Given the description of an element on the screen output the (x, y) to click on. 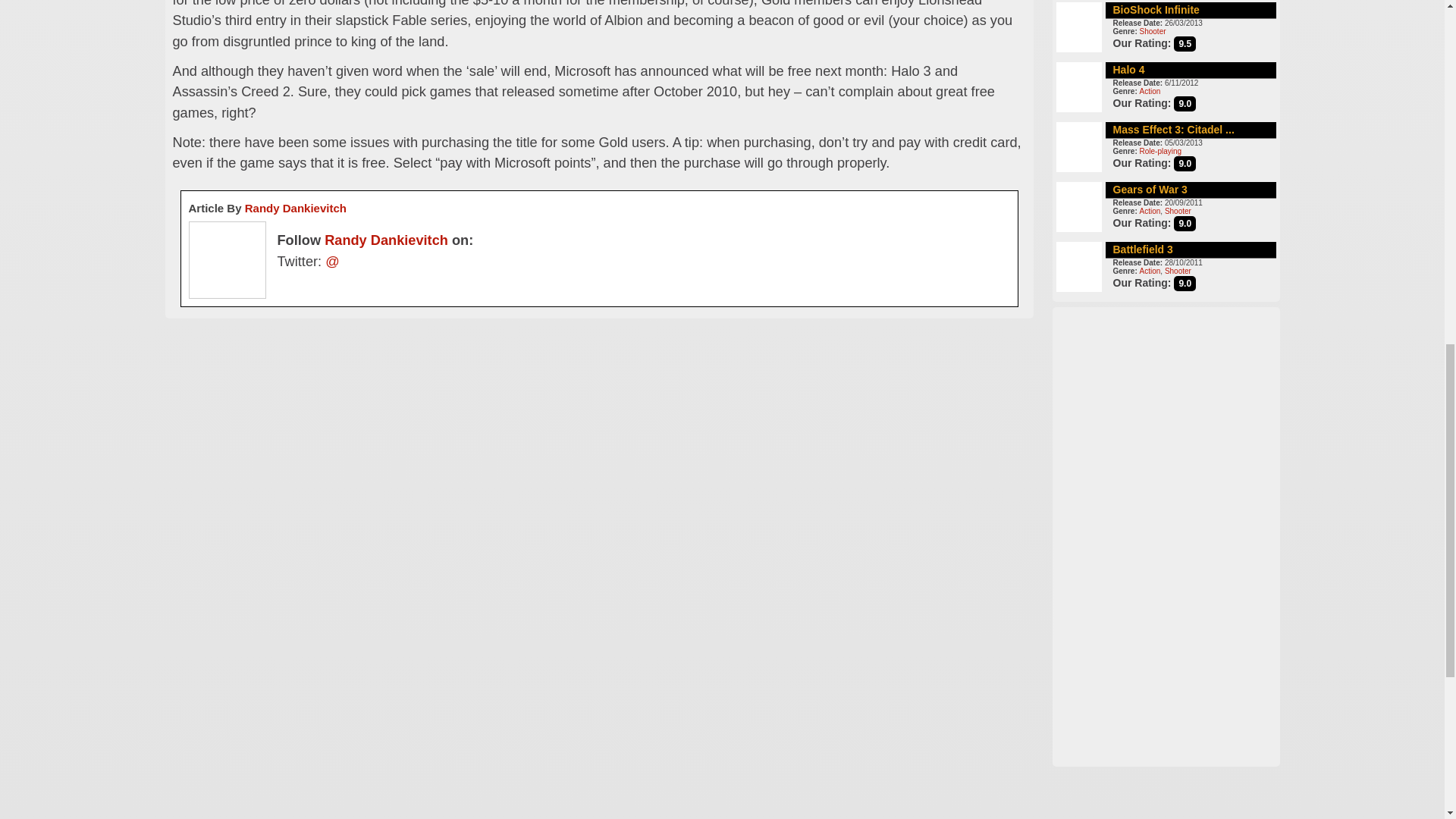
BioShock Infinite Review (1156, 9)
Halo 4 Review (1128, 69)
Posts by Randy Dankievitch (386, 240)
Posts by Randy Dankievitch (295, 207)
Gears of War 3 Review (1150, 189)
Mass Effect 3: Citadel Review (1173, 128)
Battlefield 3 Review (1143, 248)
